Given the description of an element on the screen output the (x, y) to click on. 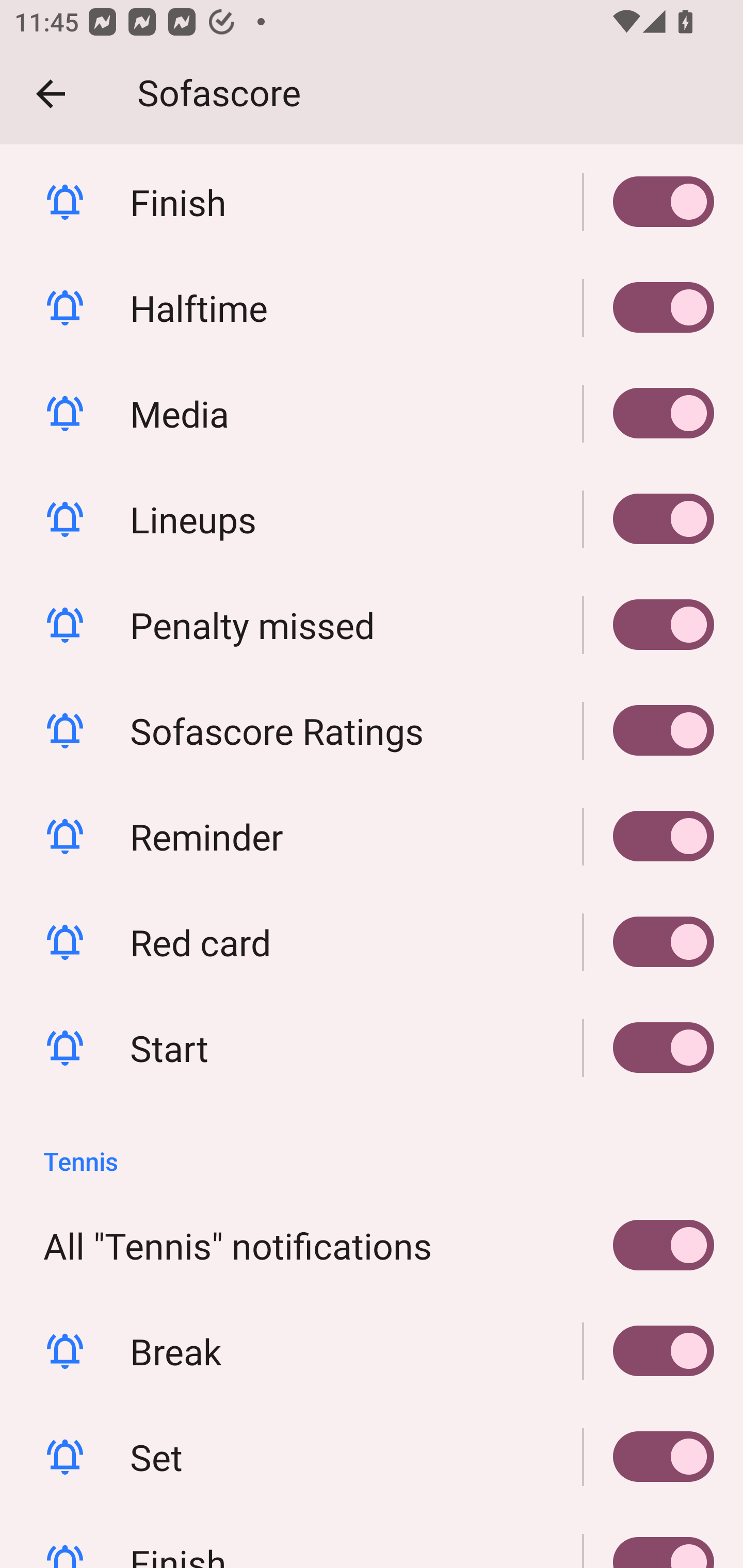
Navigate up (50, 93)
Finish (371, 201)
Finish (648, 201)
Halftime (371, 307)
Halftime (648, 307)
Media (371, 412)
Media (648, 412)
Lineups (371, 518)
Lineups (648, 518)
Penalty missed (371, 624)
Penalty missed (648, 624)
Sofascore Ratings (371, 730)
Sofascore Ratings (648, 730)
Reminder (371, 836)
Reminder (648, 836)
Red card (371, 942)
Red card (648, 942)
Start (371, 1047)
Start (648, 1047)
All "Tennis" notifications (371, 1245)
Break (371, 1350)
Break (648, 1350)
Set (371, 1456)
Set (648, 1456)
Finish (648, 1538)
